Given the description of an element on the screen output the (x, y) to click on. 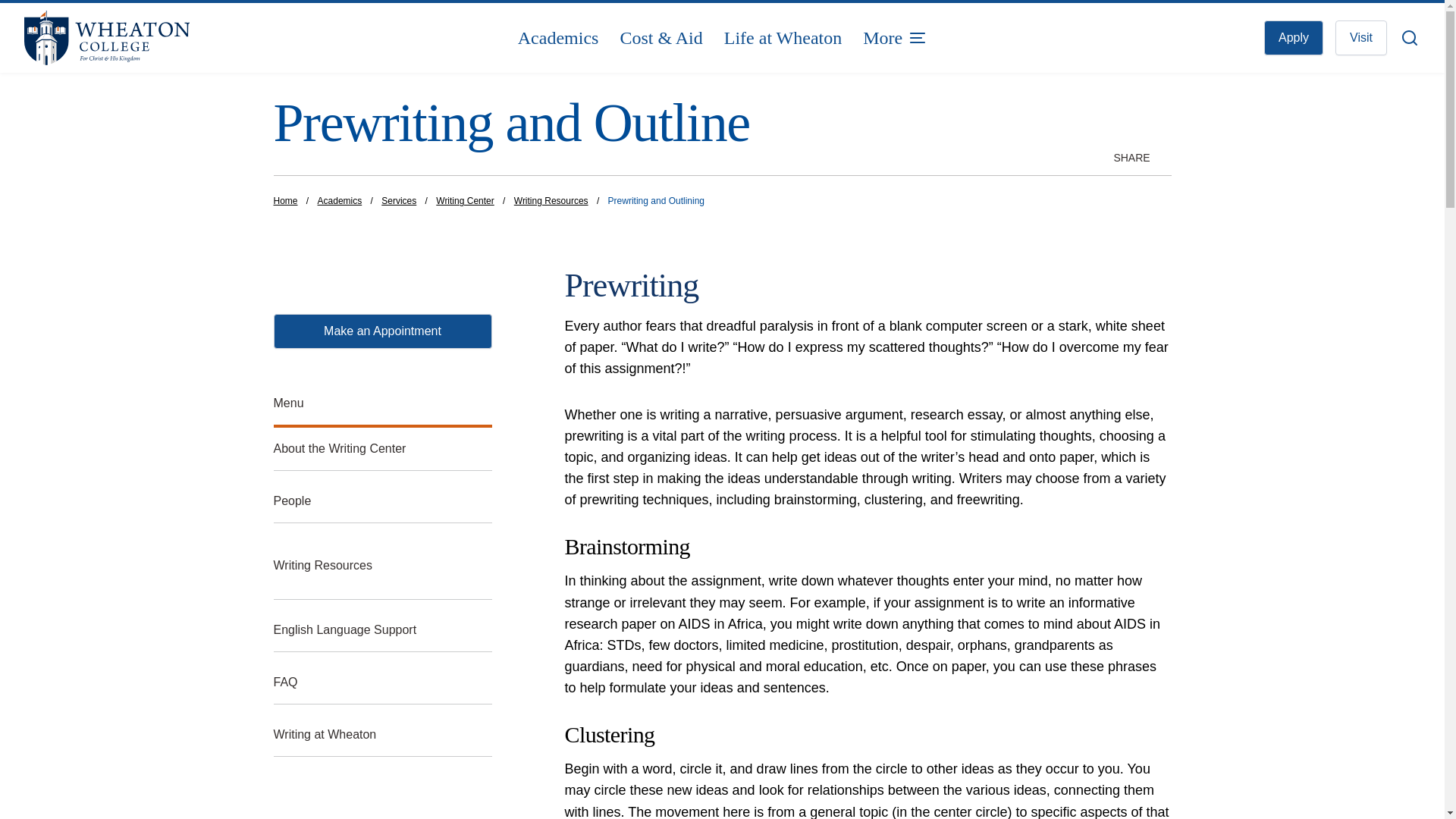
Apply (1293, 37)
Visit (1361, 37)
Life at Wheaton (782, 37)
Wheaton College homepage (161, 37)
Search (1410, 37)
More (894, 37)
Academics (557, 37)
